Given the description of an element on the screen output the (x, y) to click on. 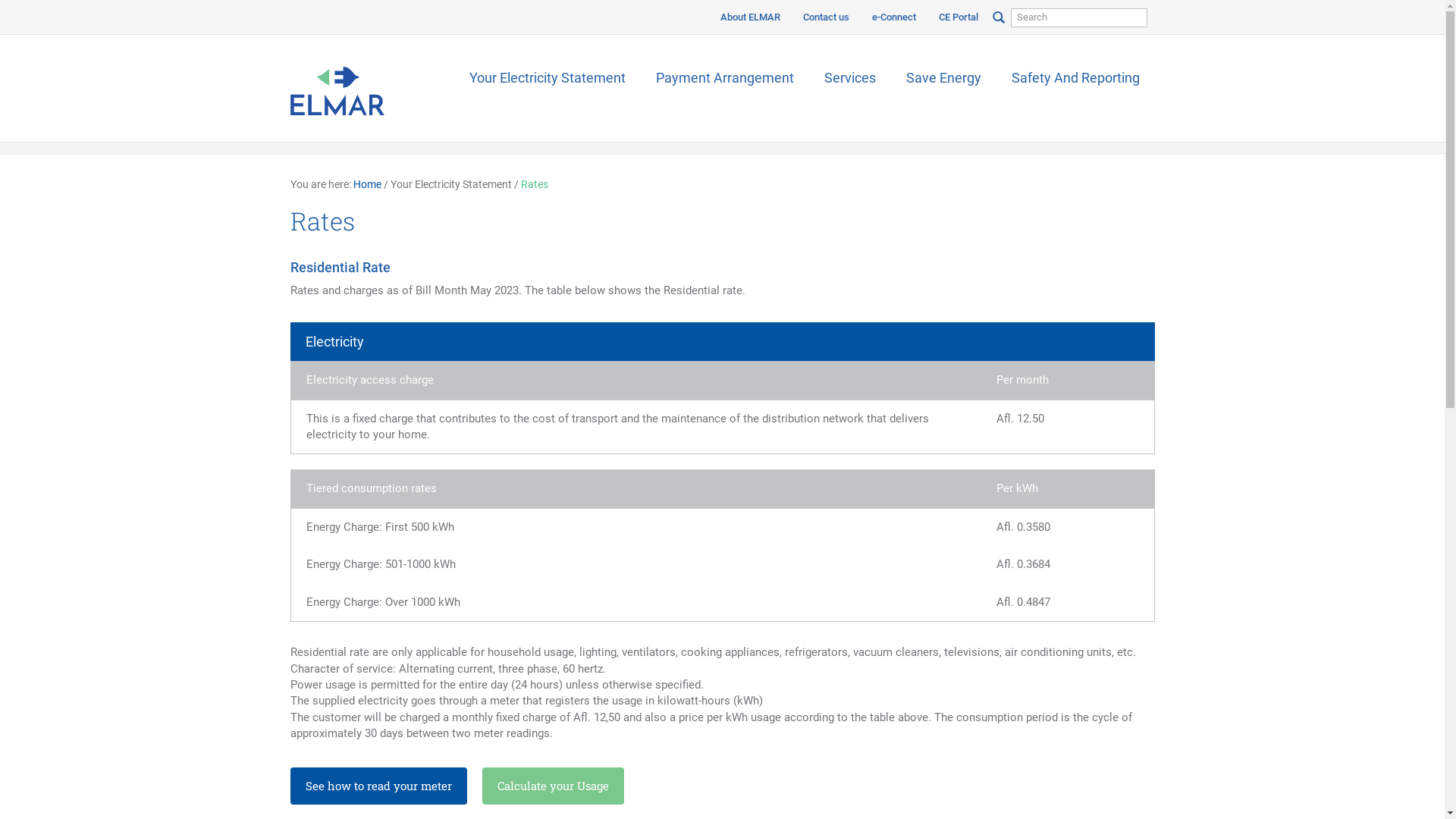
Payment Arrangement Element type: text (724, 78)
Safety And Reporting Element type: text (1075, 78)
See how to read your meter Element type: text (377, 785)
About ELMAR Element type: text (749, 17)
Search Element type: text (27, 11)
Home Element type: text (367, 184)
CE Portal Element type: text (957, 17)
e-Connect Element type: text (892, 17)
Your Electricity Statement Element type: text (546, 78)
Home Element type: hover (337, 87)
Calculate your Usage Element type: text (553, 785)
Save Energy Element type: text (942, 78)
Services Element type: text (849, 78)
Contact us Element type: text (825, 17)
Enter the terms you wish to search for. Element type: hover (1078, 17)
